Given the description of an element on the screen output the (x, y) to click on. 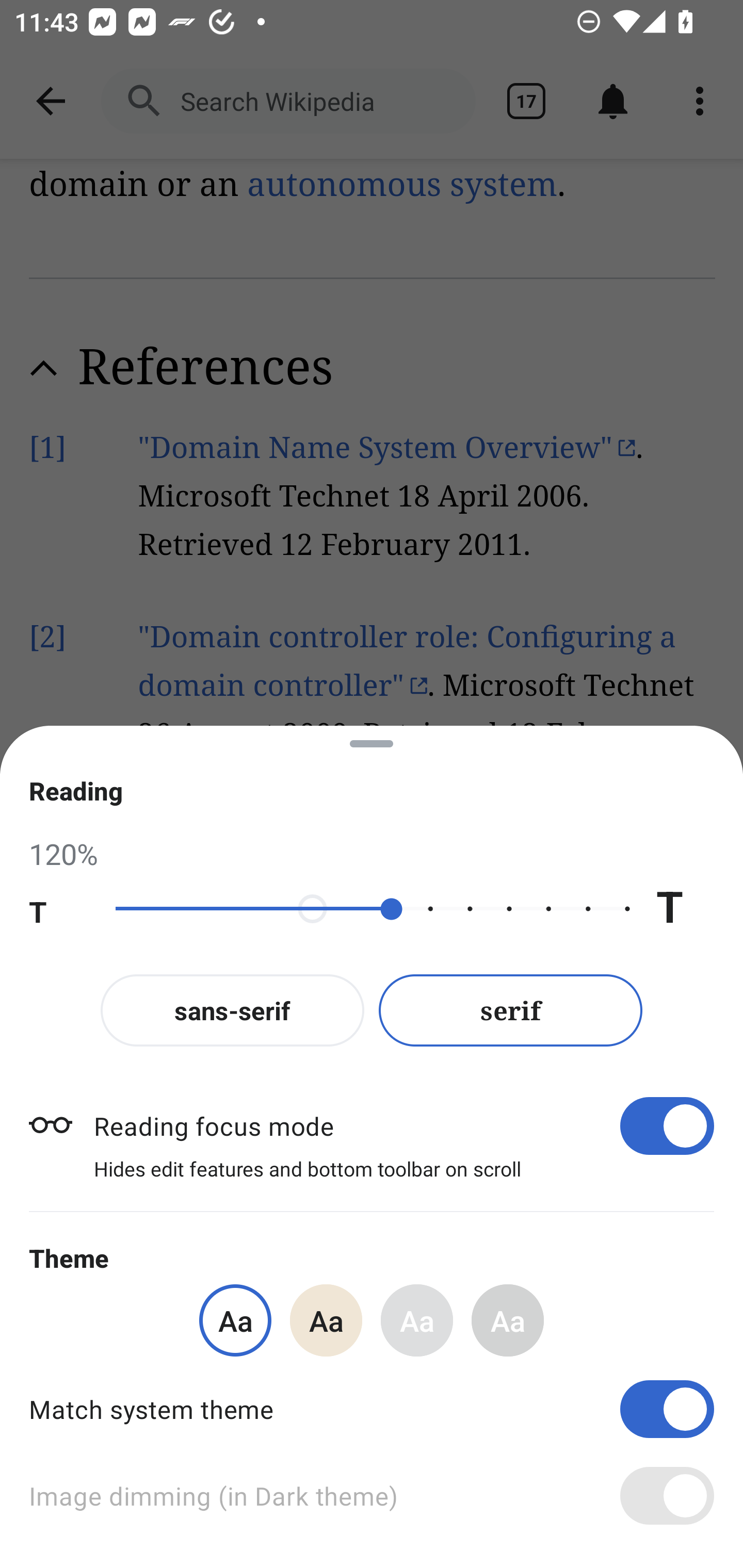
T Decrease text size (57, 909)
T Increase text size (685, 909)
sans-serif (232, 1010)
serif (510, 1010)
Reading focus mode (403, 1125)
Aa (325, 1320)
Aa (416, 1320)
Aa (507, 1320)
Match system theme (371, 1408)
Image dimming (in Dark theme) (371, 1495)
